Given the description of an element on the screen output the (x, y) to click on. 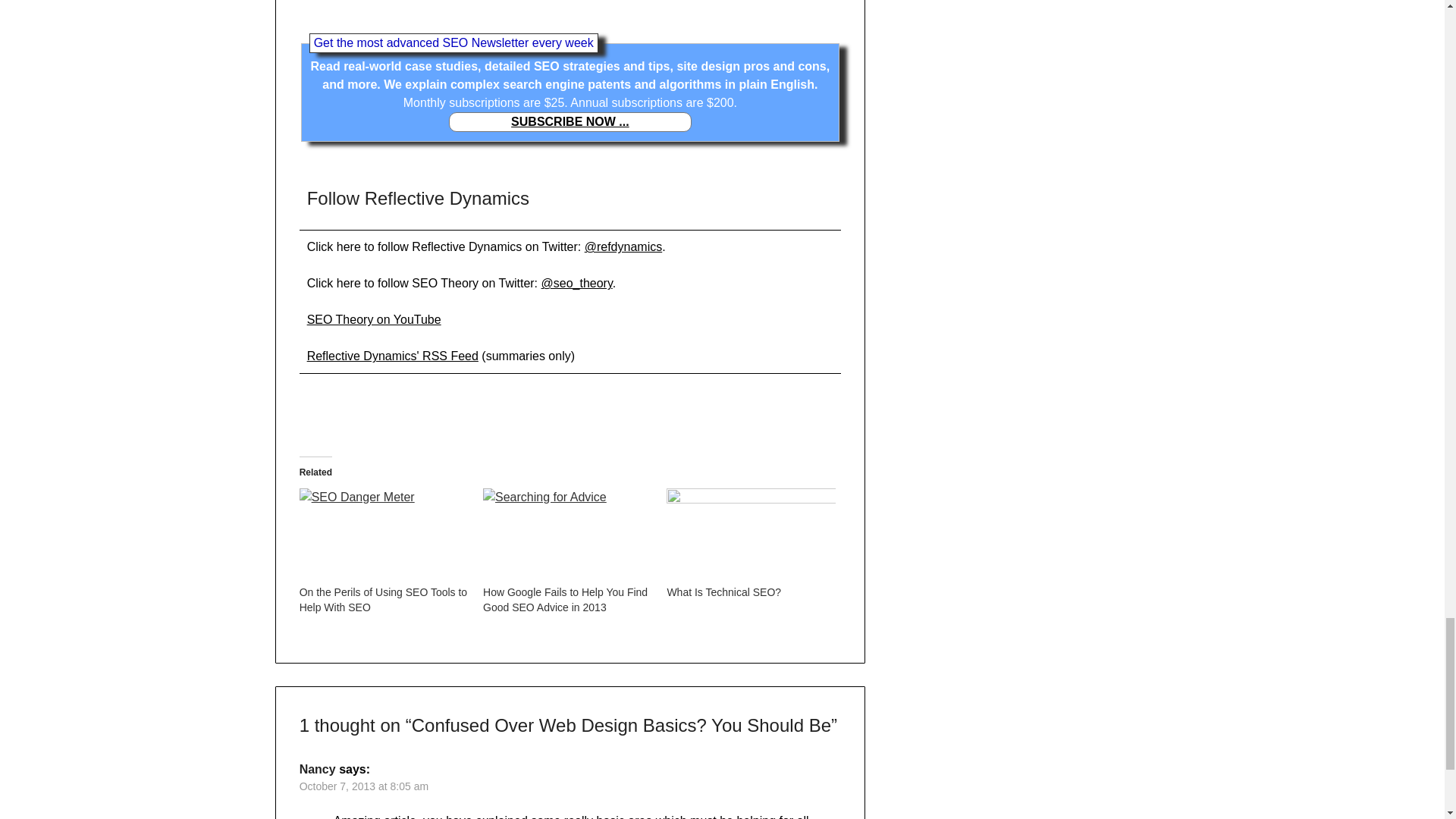
How Google Fails to Help You Find Good SEO Advice in 2013 (565, 599)
On the Perils of Using SEO Tools to Help With SEO (383, 536)
SUBSCRIBE NOW ... (569, 121)
October 7, 2013 at 8:05 am (363, 786)
On the Perils of Using SEO Tools to Help With SEO (383, 599)
SEO Theory on YouTube (374, 318)
What Is Technical SEO? (723, 592)
How Google Fails to Help You Find Good SEO Advice in 2013 (566, 536)
How Google Fails to Help You Find Good SEO Advice in 2013 (565, 599)
What Is Technical SEO? (750, 536)
